Given the description of an element on the screen output the (x, y) to click on. 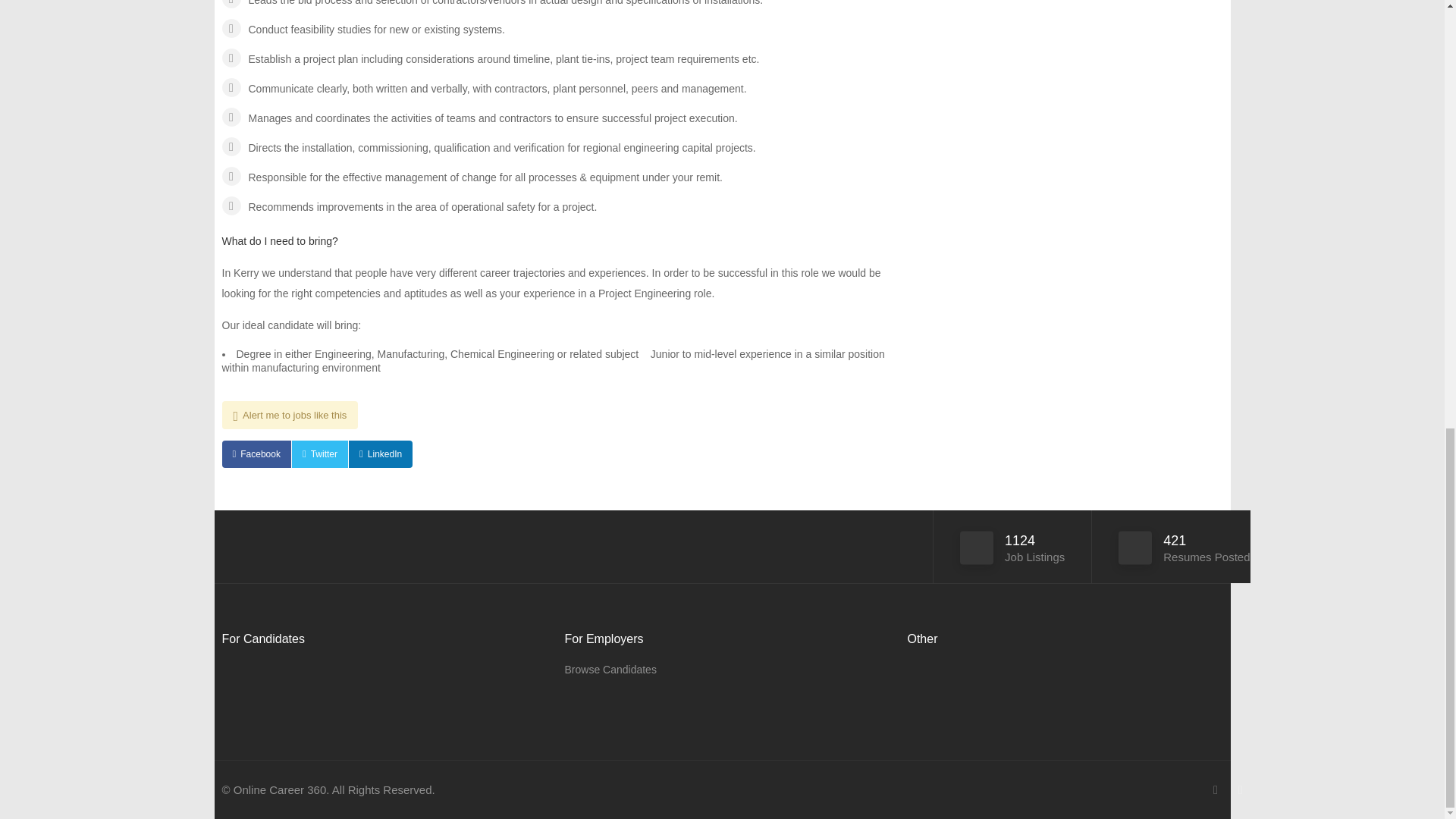
Browse Candidates (610, 669)
Alert me to jobs like this (289, 415)
LinkedIn (380, 453)
Twitter (319, 453)
Facebook (255, 453)
Twitter (319, 453)
